Given the description of an element on the screen output the (x, y) to click on. 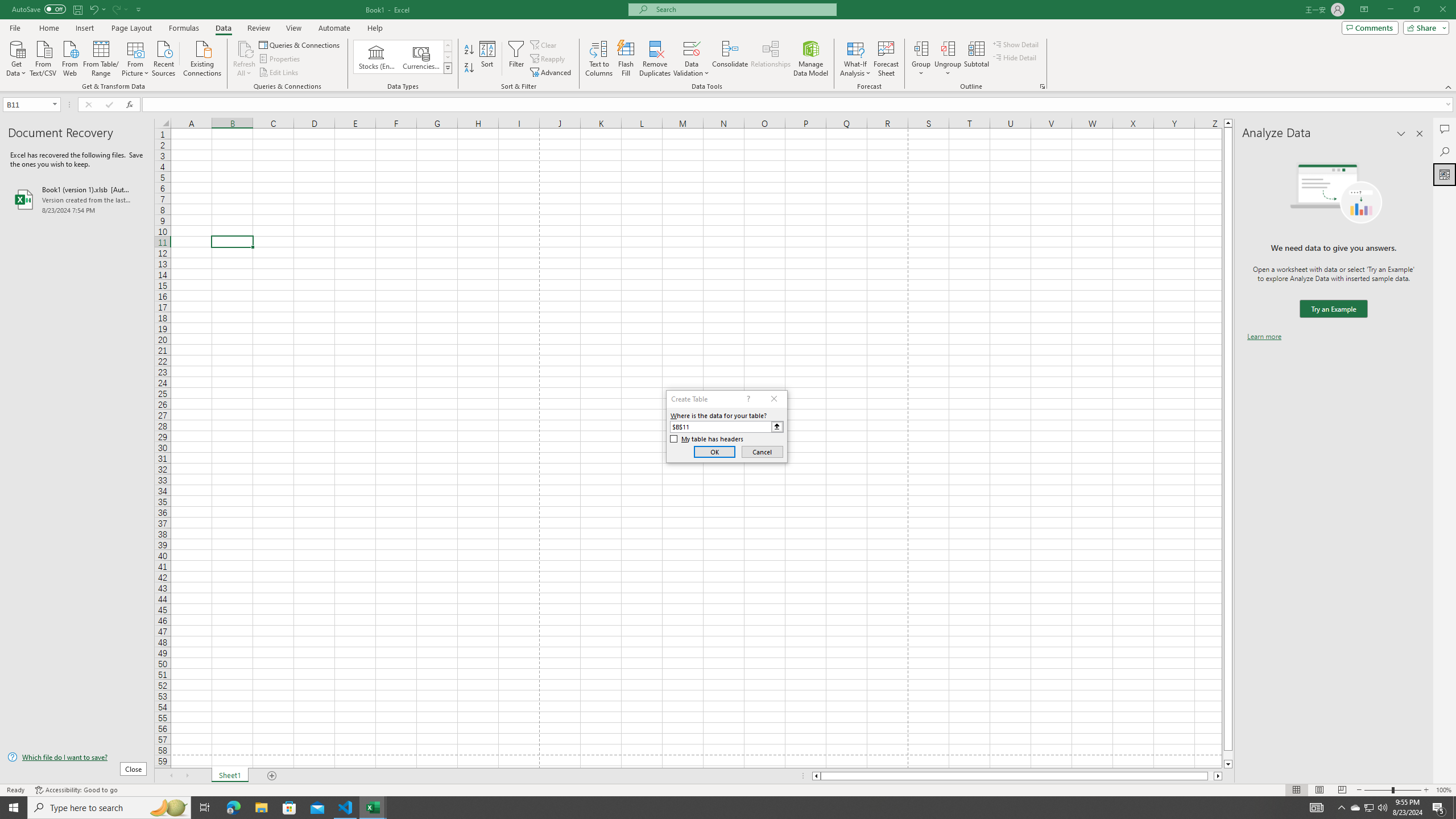
Group... (921, 48)
AutomationID: ConvertToLinkedEntity (403, 56)
Column right (1218, 775)
